Given the description of an element on the screen output the (x, y) to click on. 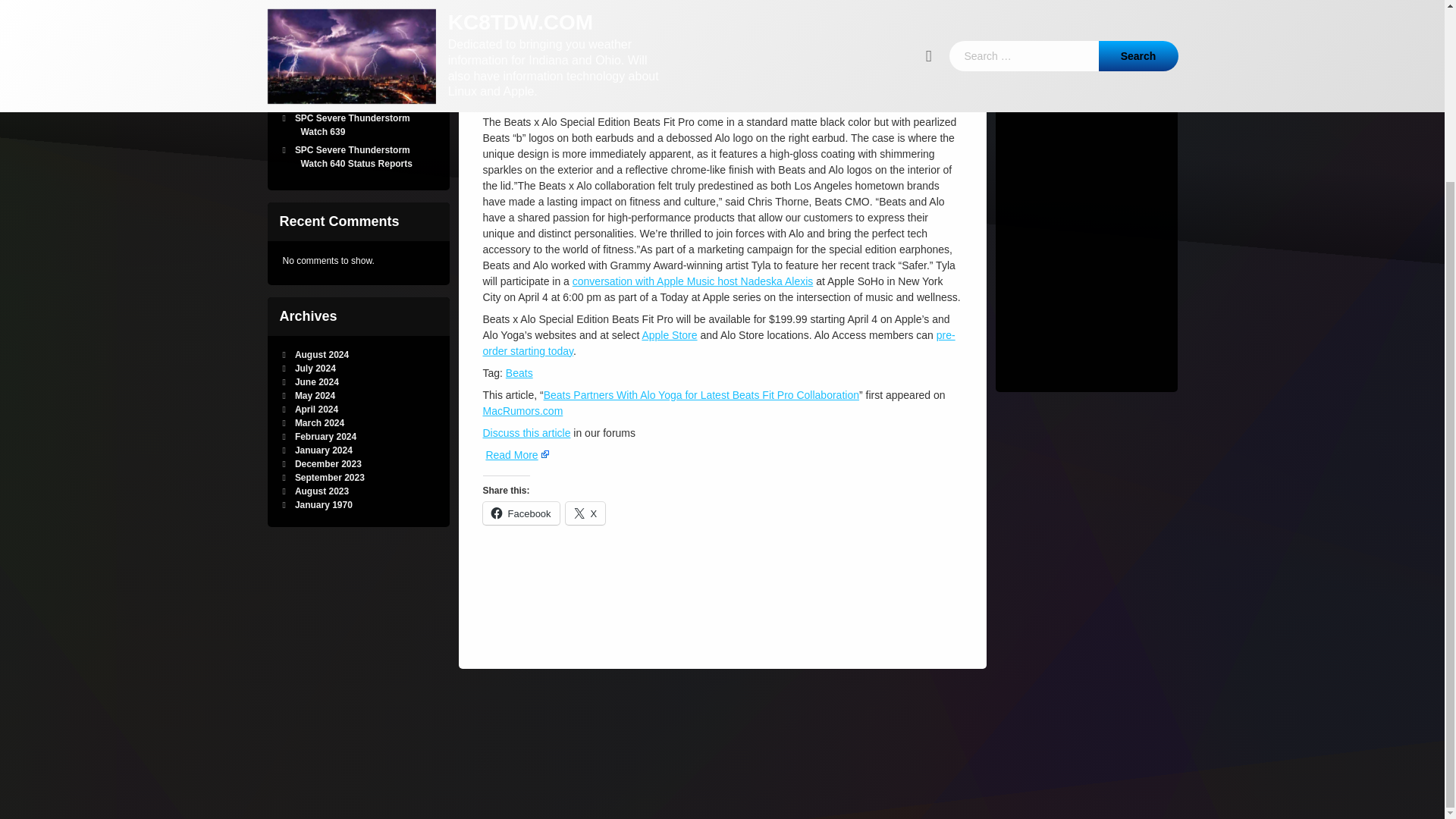
pre-order starting today (718, 165)
conversation with Apple Music host Nadeska Alexis (692, 56)
SPC Severe Thunderstorm Watch 639 (348, 125)
Discuss this article (525, 336)
SPC MD 1961 (317, 68)
X (585, 456)
May 2024 (357, 243)
September 2023 (314, 395)
January 2024 (330, 477)
